Given the description of an element on the screen output the (x, y) to click on. 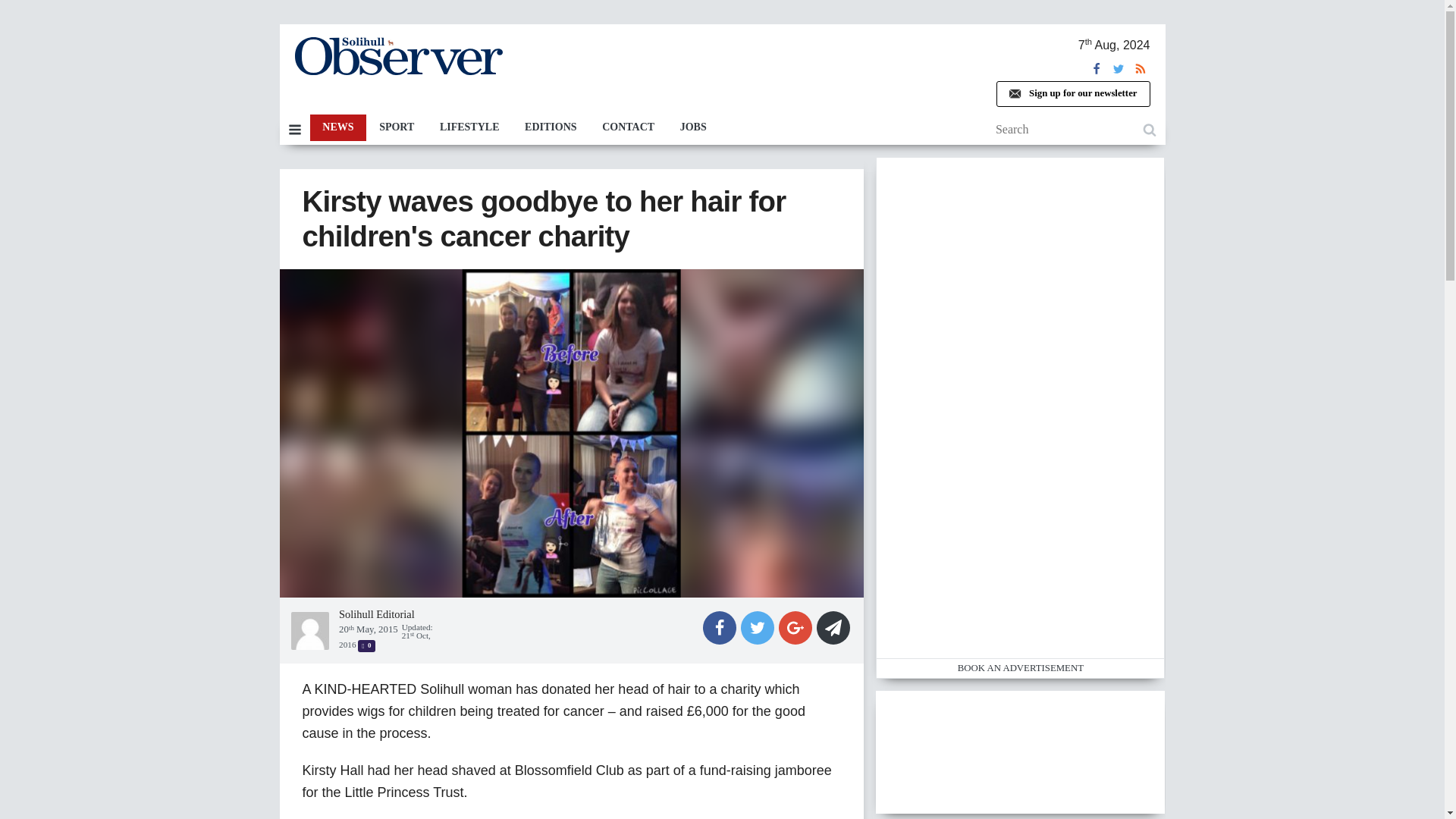
CONTACT (627, 127)
LIFESTYLE (469, 127)
JOBS (692, 127)
SPORT (396, 127)
EDITIONS (550, 127)
NEWS (337, 127)
  Sign up for our newsletter (1072, 94)
The Solihull Observer (398, 55)
